Given the description of an element on the screen output the (x, y) to click on. 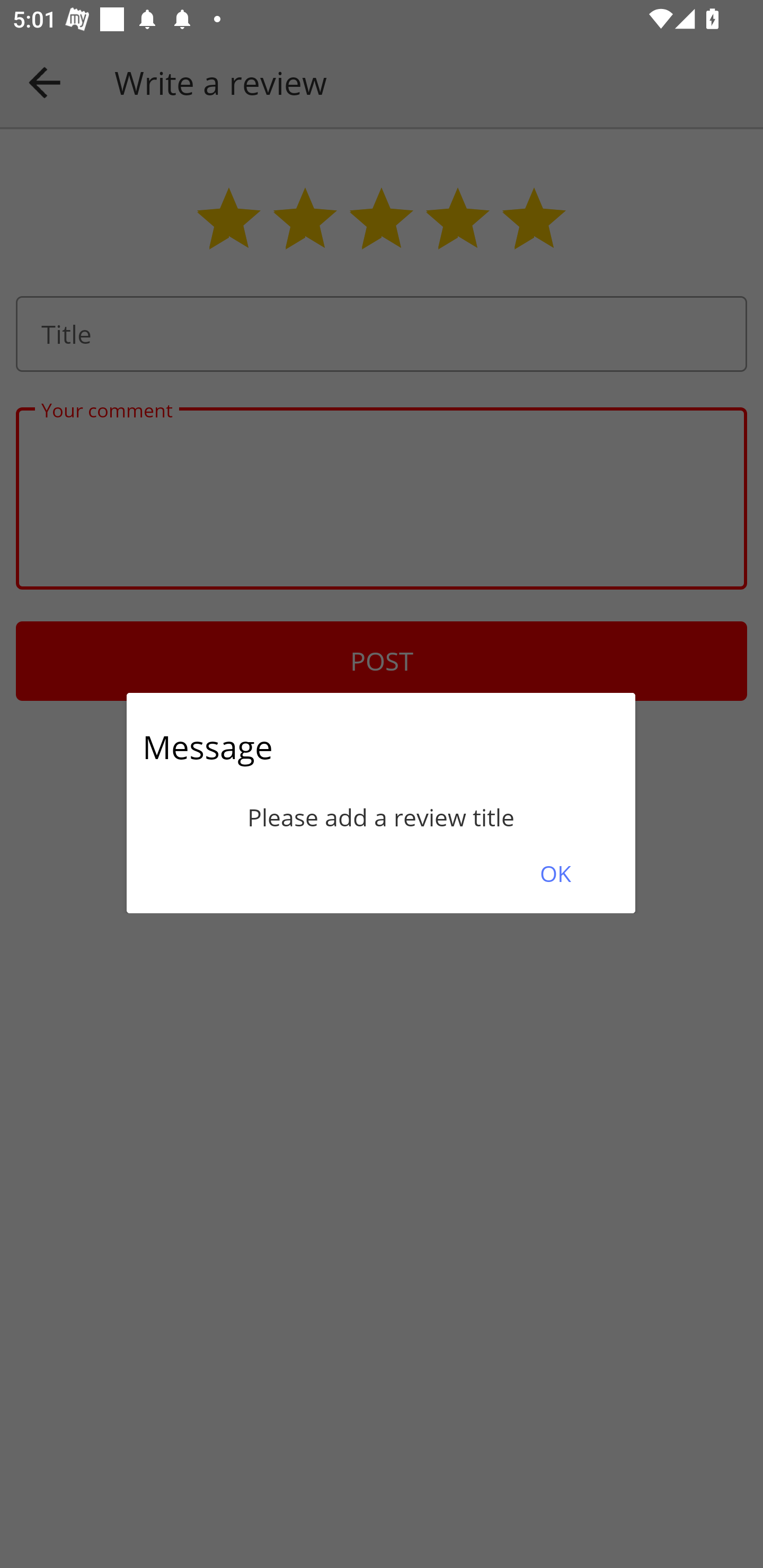
OK (555, 873)
